Given the description of an element on the screen output the (x, y) to click on. 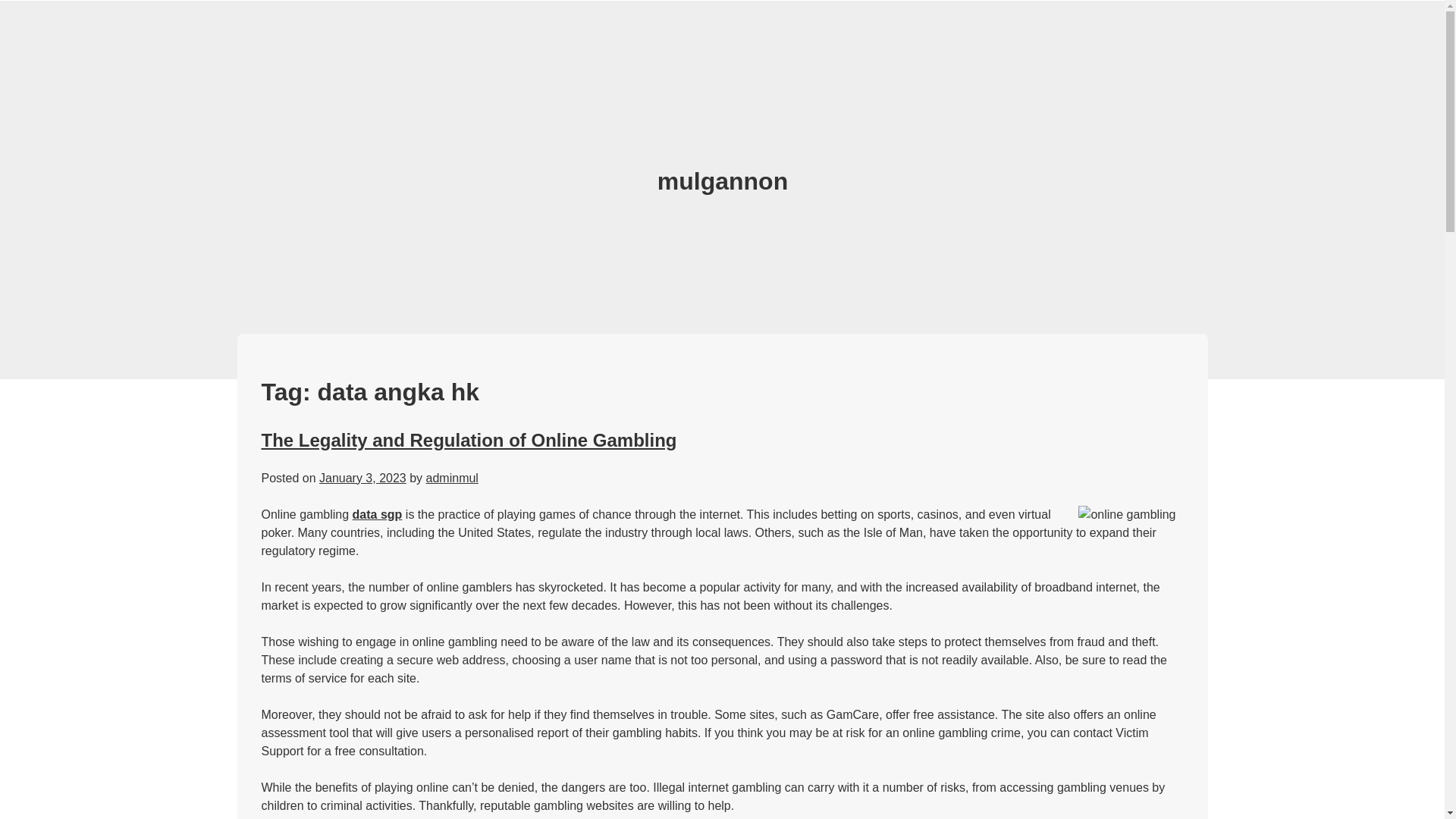
adminmul (452, 477)
January 3, 2023 (362, 477)
The Legality and Regulation of Online Gambling (468, 439)
data sgp (377, 513)
